Given the description of an element on the screen output the (x, y) to click on. 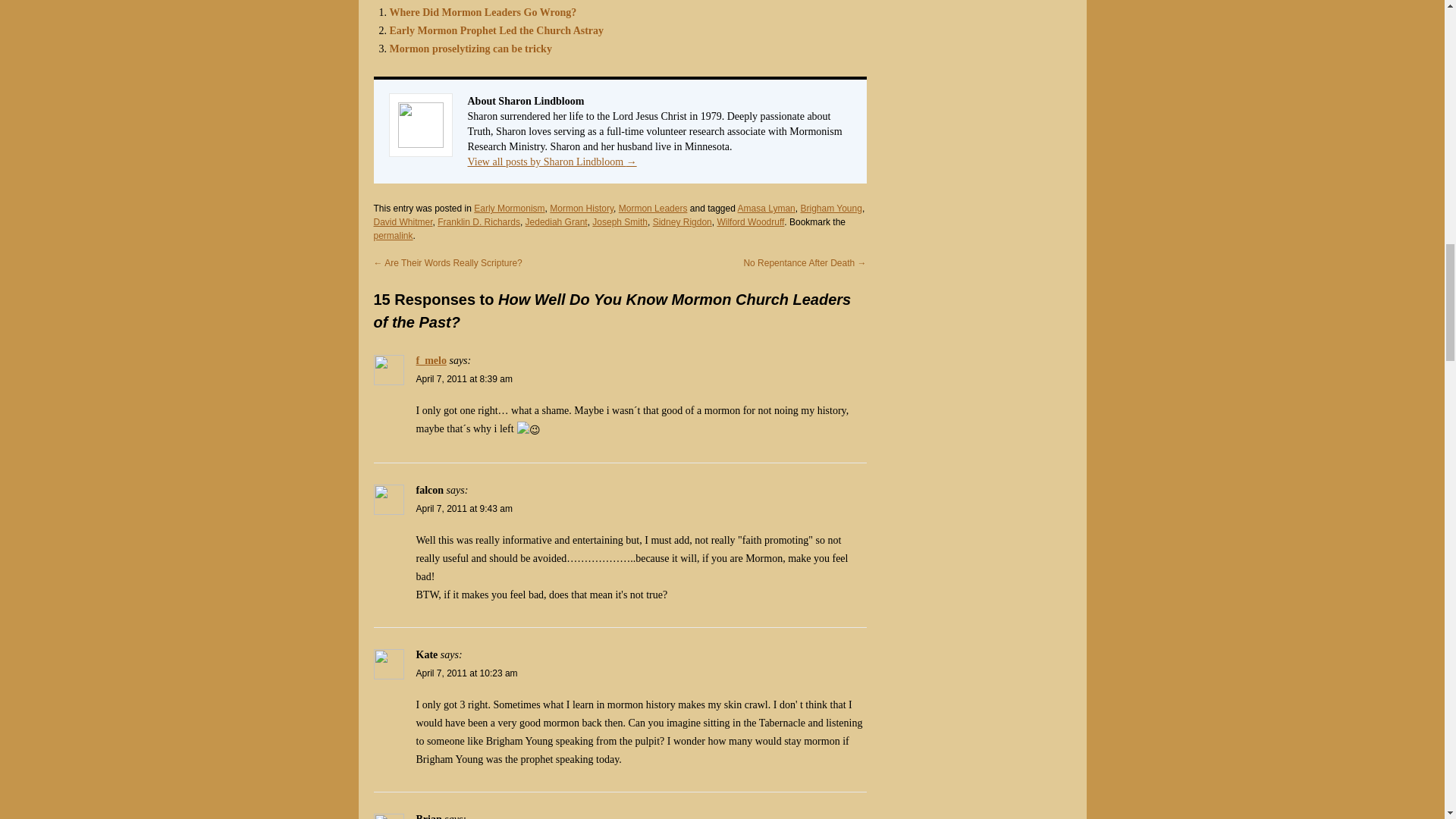
Franklin D. Richards (478, 222)
April 7, 2011 at 10:23 am (465, 673)
April 7, 2011 at 9:43 am (463, 508)
Where Did Mormon Leaders Go Wrong? (483, 12)
Mormon Leaders (652, 208)
Mormon History (581, 208)
Brigham Young (830, 208)
April 7, 2011 at 8:39 am (463, 378)
David Whitmer (402, 222)
Early Mormonism (509, 208)
